Given the description of an element on the screen output the (x, y) to click on. 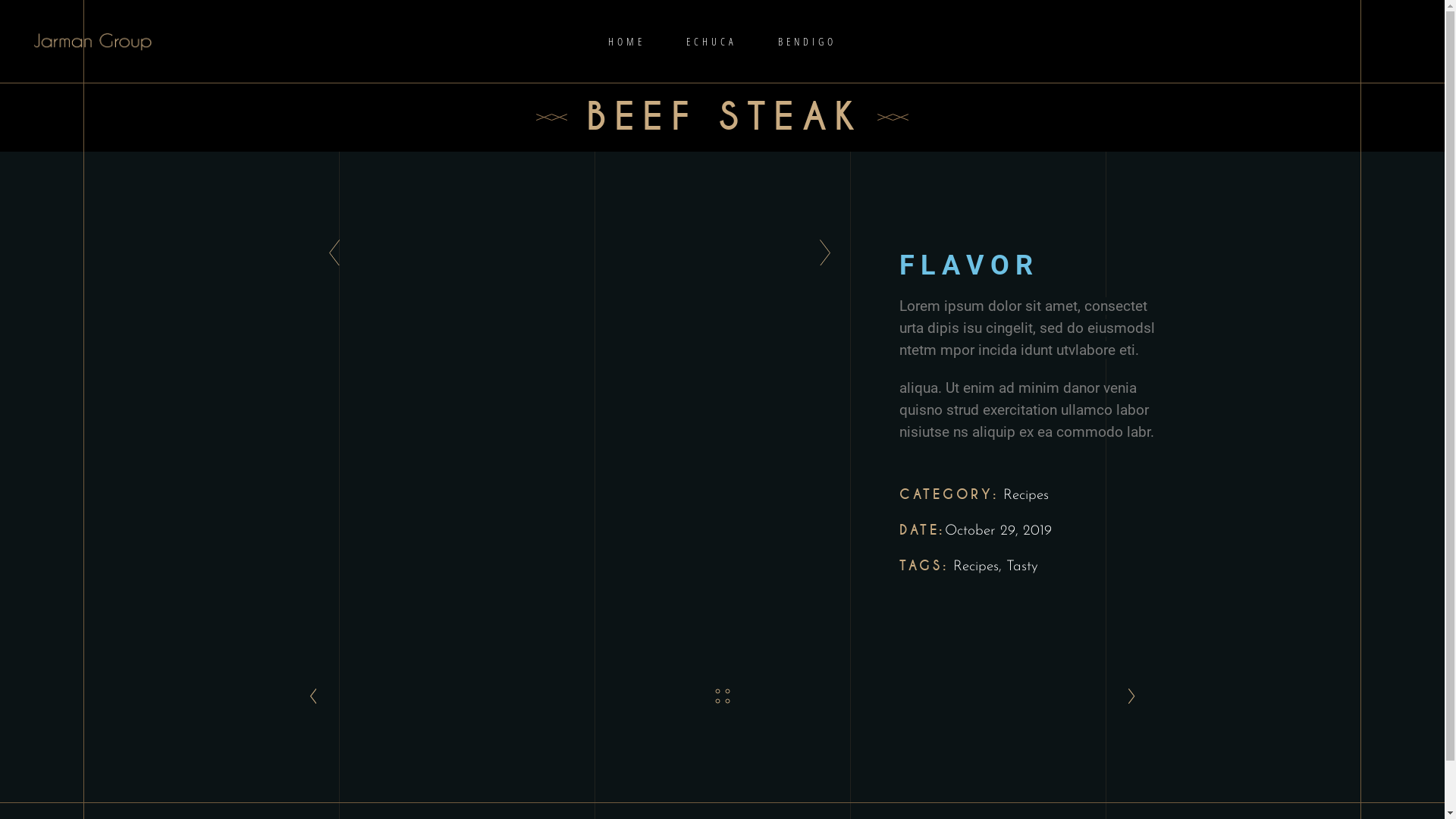
Recipes Element type: text (975, 566)
HOME Element type: text (626, 41)
ECHUCA Element type: text (711, 41)
Tasty Element type: text (1022, 566)
BENDIGO Element type: text (806, 41)
Recipes Element type: text (1025, 495)
